Given the description of an element on the screen output the (x, y) to click on. 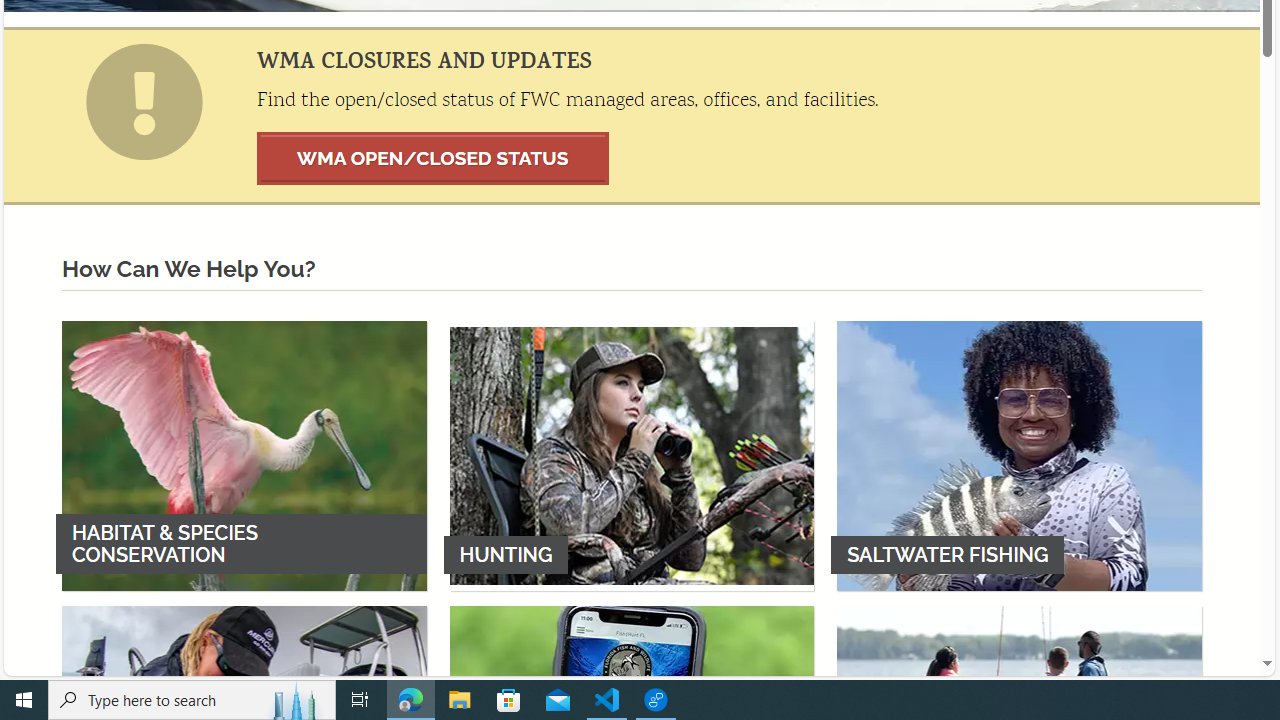
HABITAT & SPECIES CONSERVATION (244, 455)
WMA OPEN/CLOSED STATUS (433, 158)
SALTWATER FISHING (1019, 455)
HUNTING (632, 455)
